Given the description of an element on the screen output the (x, y) to click on. 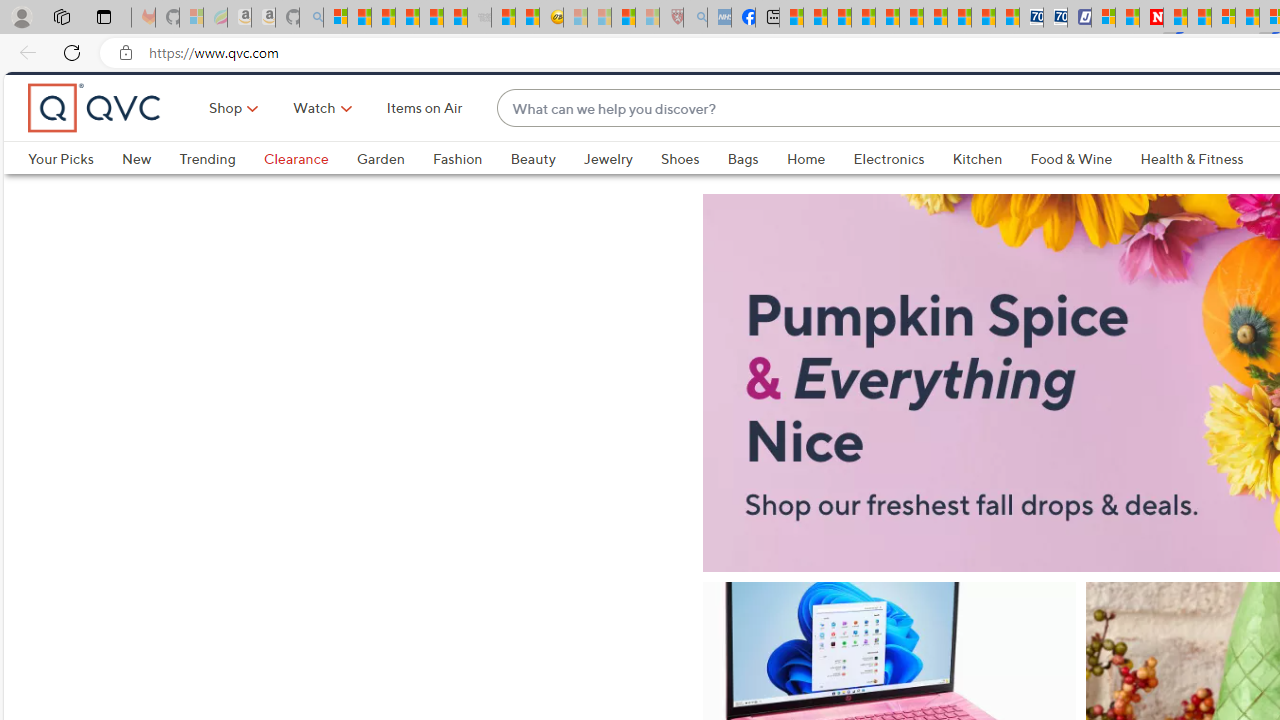
Fashion (471, 192)
World - MSN (839, 17)
QVC home (95, 141)
Kitchen (977, 192)
Your Picks (60, 192)
Latest Politics News & Archive | Newsweek.com (1151, 17)
New Report Confirms 2023 Was Record Hot | Watch (430, 17)
